Given the description of an element on the screen output the (x, y) to click on. 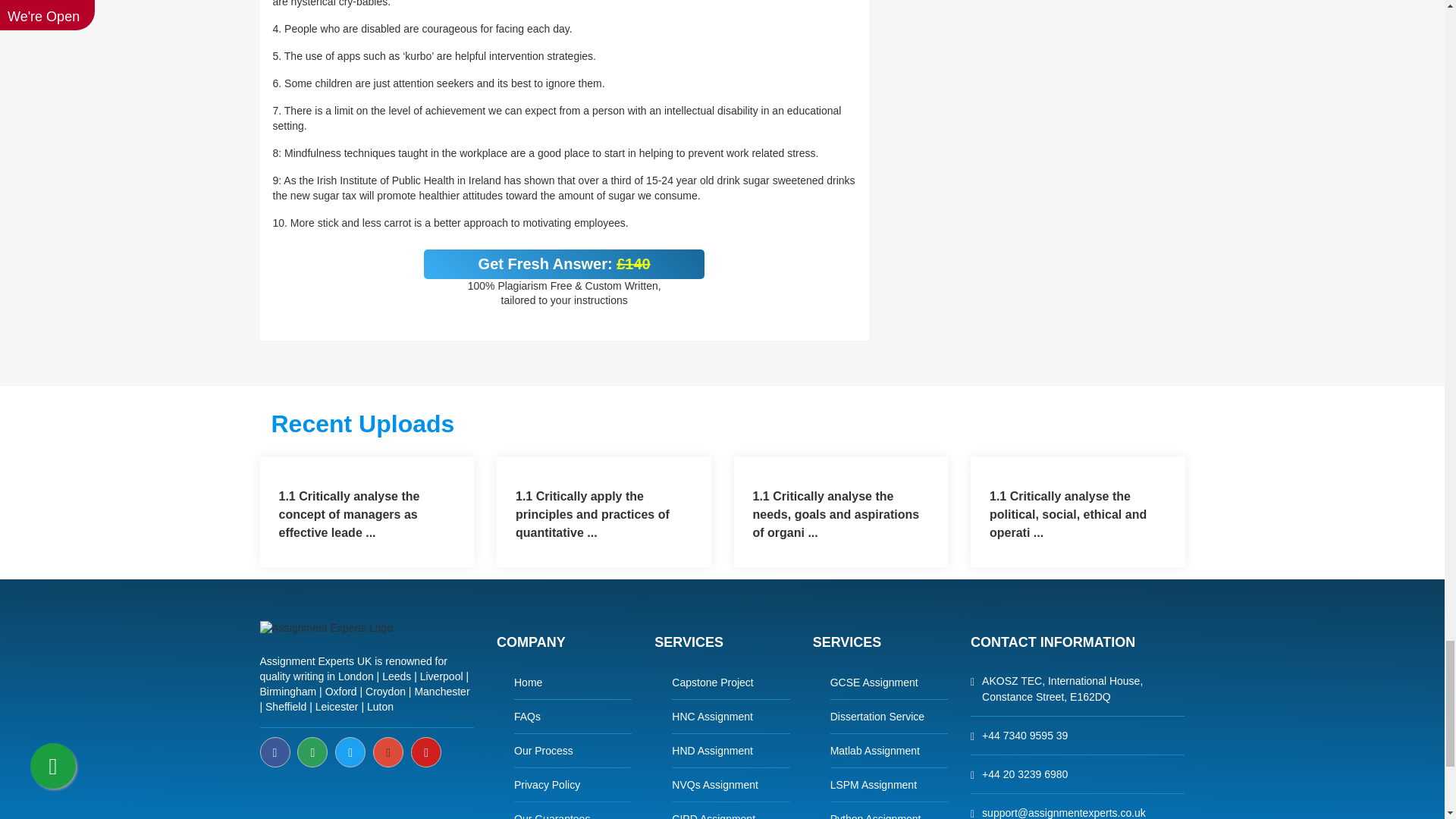
Oxford (340, 691)
Sheffield (284, 706)
Croydon (385, 691)
Leeds (395, 676)
London (355, 676)
Birmingham (287, 691)
Manchester (440, 691)
Liverpool (441, 676)
